Given the description of an element on the screen output the (x, y) to click on. 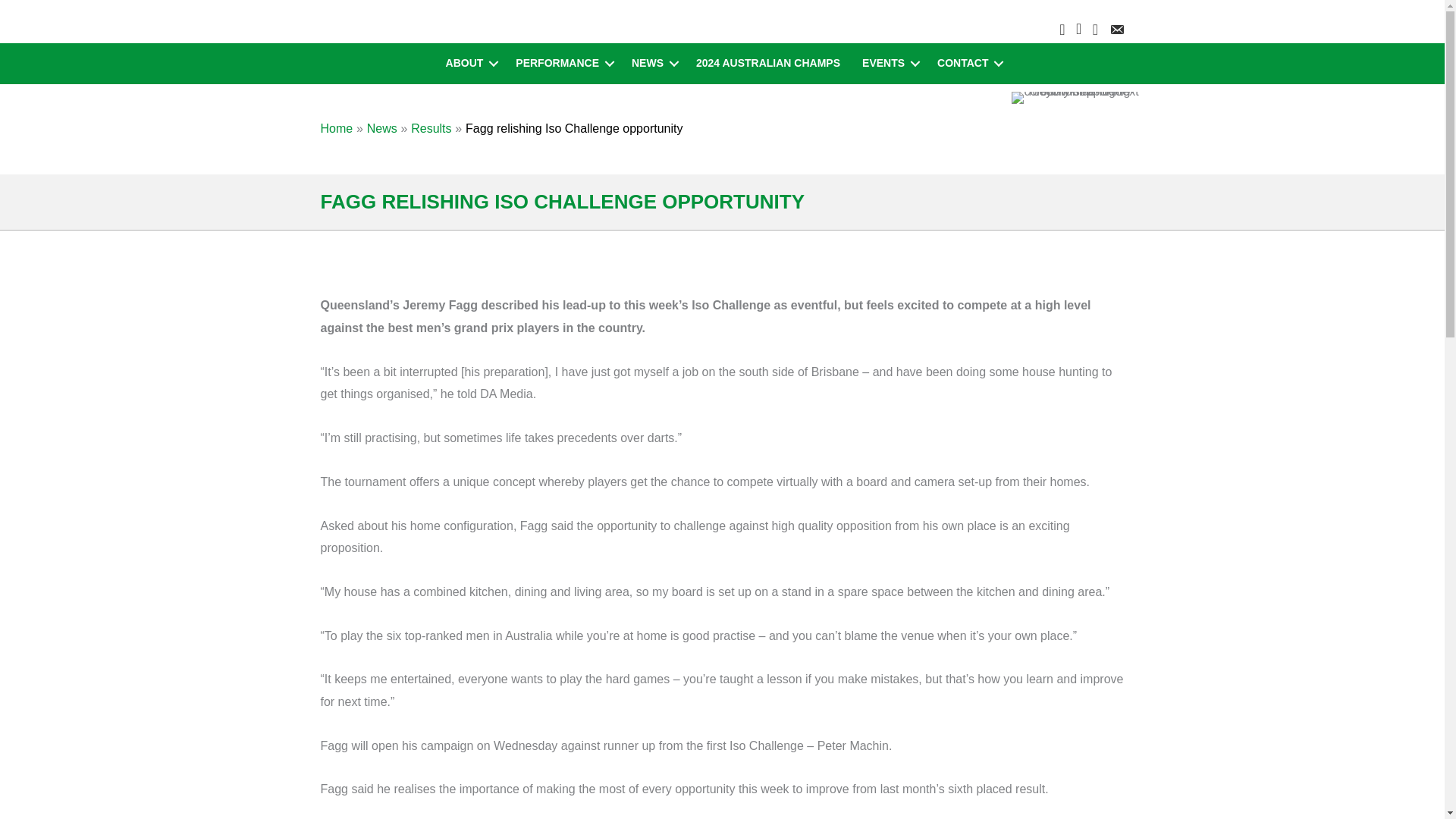
ABOUT (470, 63)
Proudly-supporting-beyondblue-logo--colour-with-white-text (1075, 97)
NEWS (652, 63)
PERFORMANCE (562, 63)
